Given the description of an element on the screen output the (x, y) to click on. 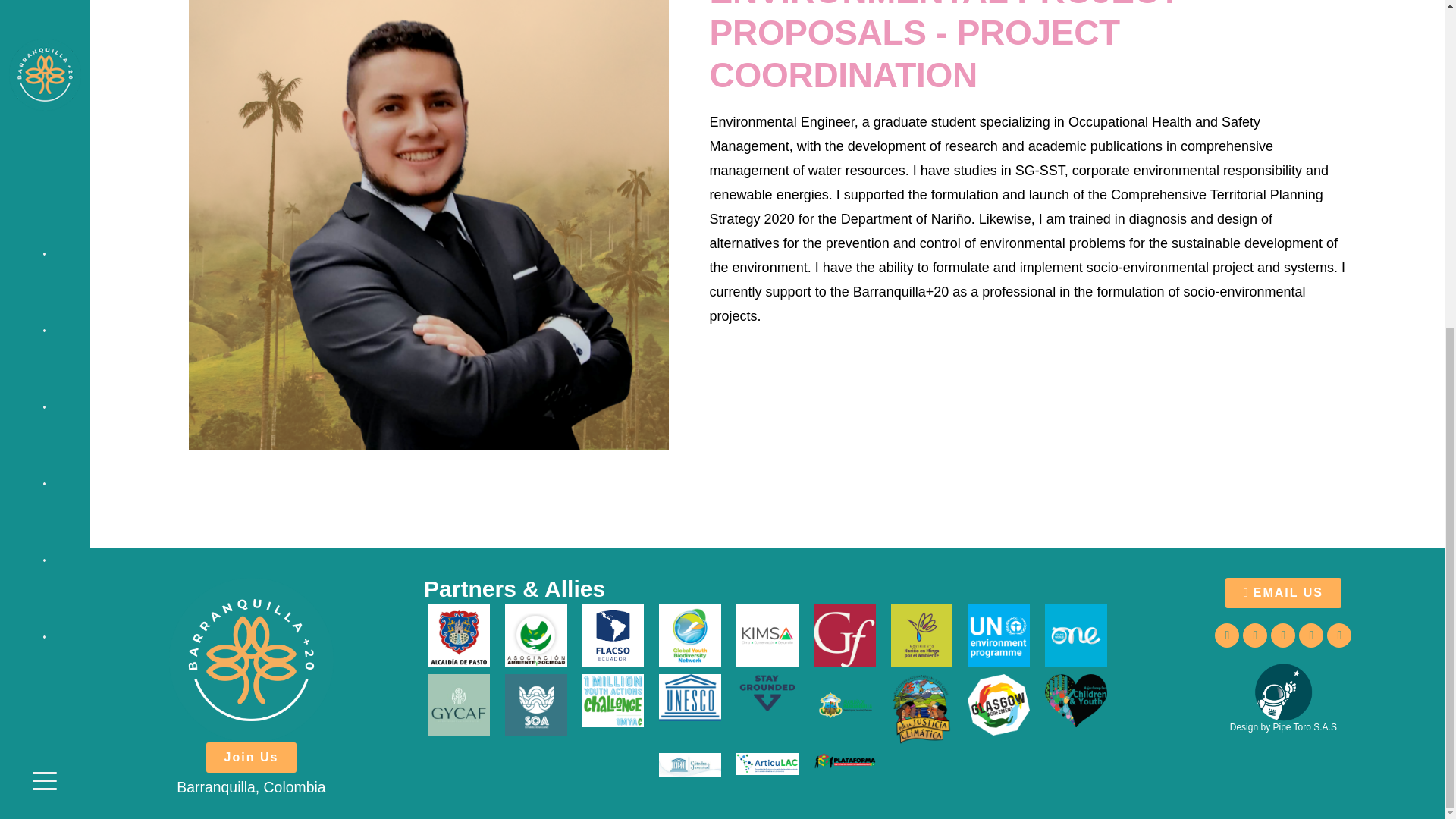
Logo PipeToro (1283, 692)
